Given the description of an element on the screen output the (x, y) to click on. 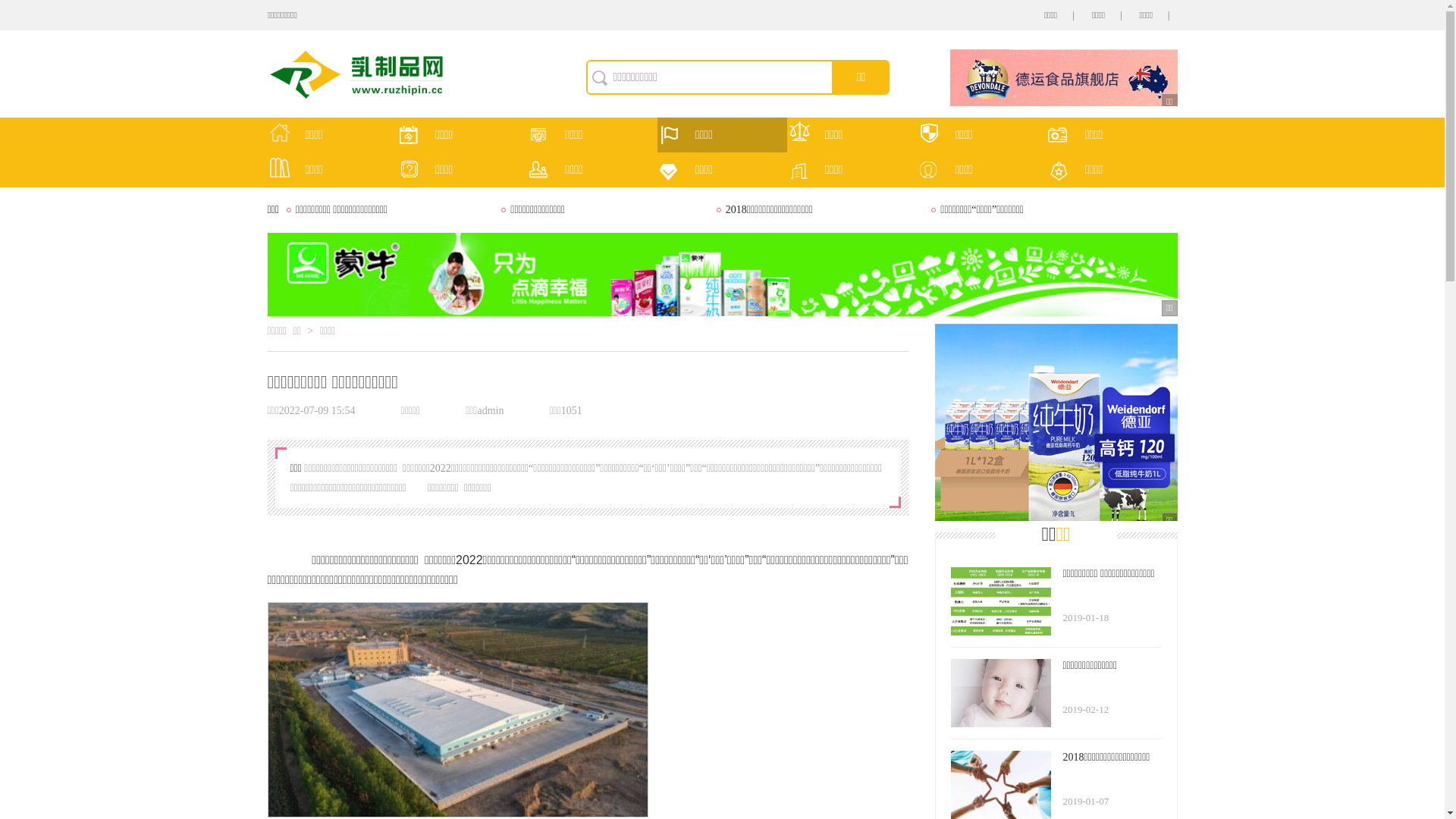
1.jpg Element type: hover (456, 709)
